Given the description of an element on the screen output the (x, y) to click on. 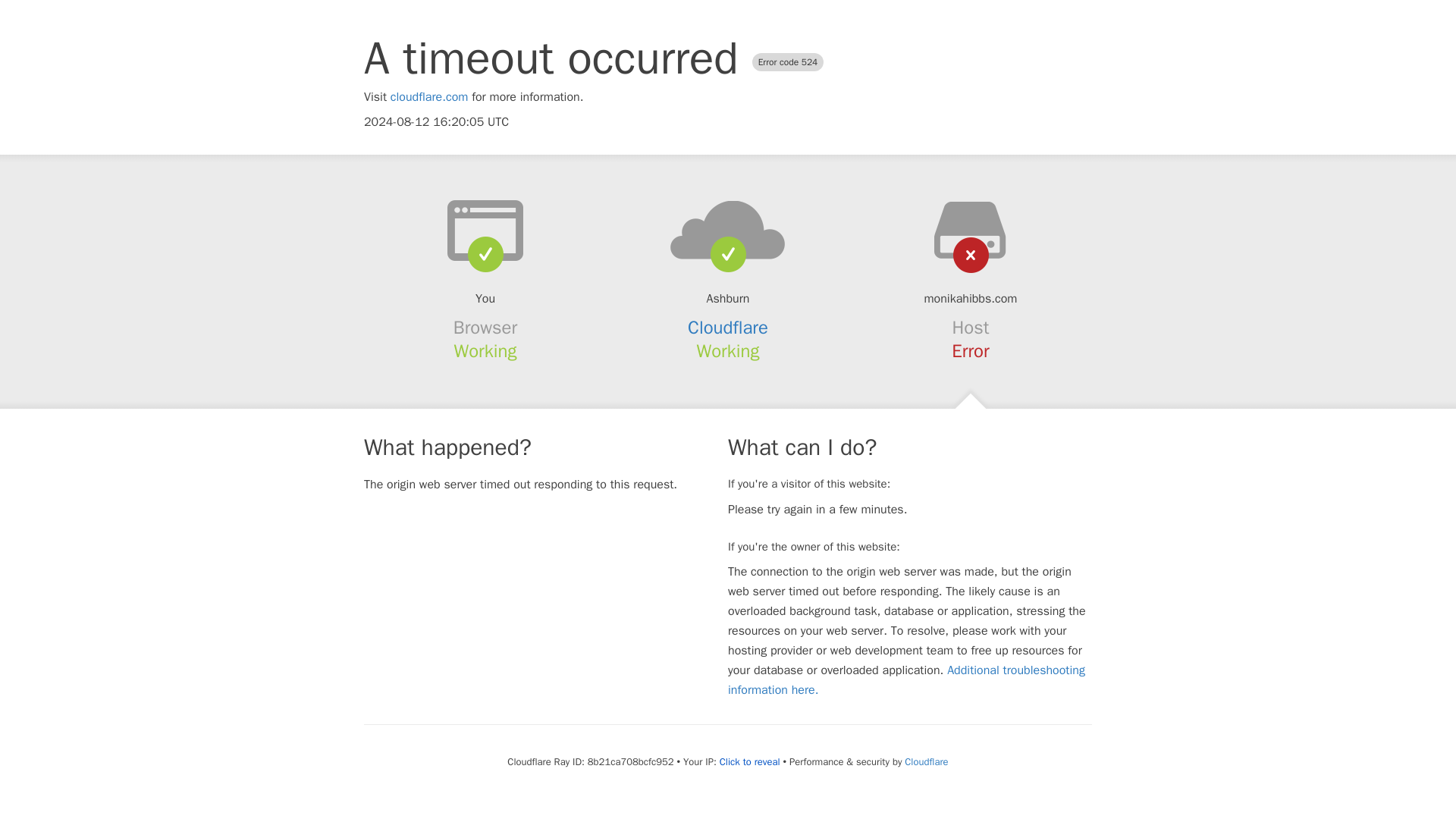
cloudflare.com (429, 96)
Cloudflare (925, 761)
Click to reveal (749, 762)
Cloudflare (727, 327)
Additional troubleshooting information here. (906, 679)
